Given the description of an element on the screen output the (x, y) to click on. 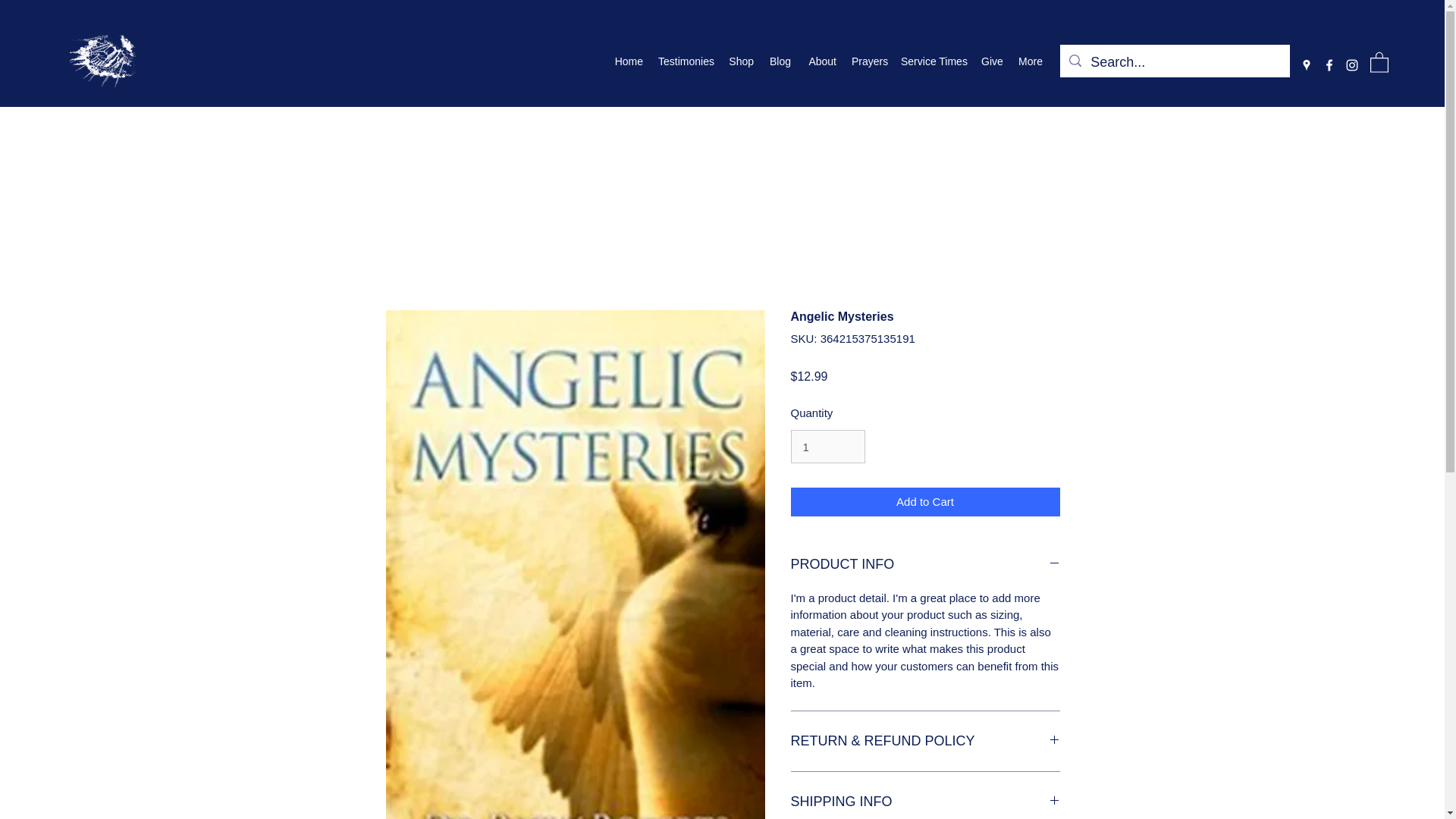
Give (992, 60)
Service Times (933, 60)
PRODUCT INFO (924, 564)
1 (827, 446)
Prayers (868, 60)
Testimonies (685, 60)
Home (628, 60)
Shop (740, 60)
Blog (779, 60)
About (820, 60)
